Given the description of an element on the screen output the (x, y) to click on. 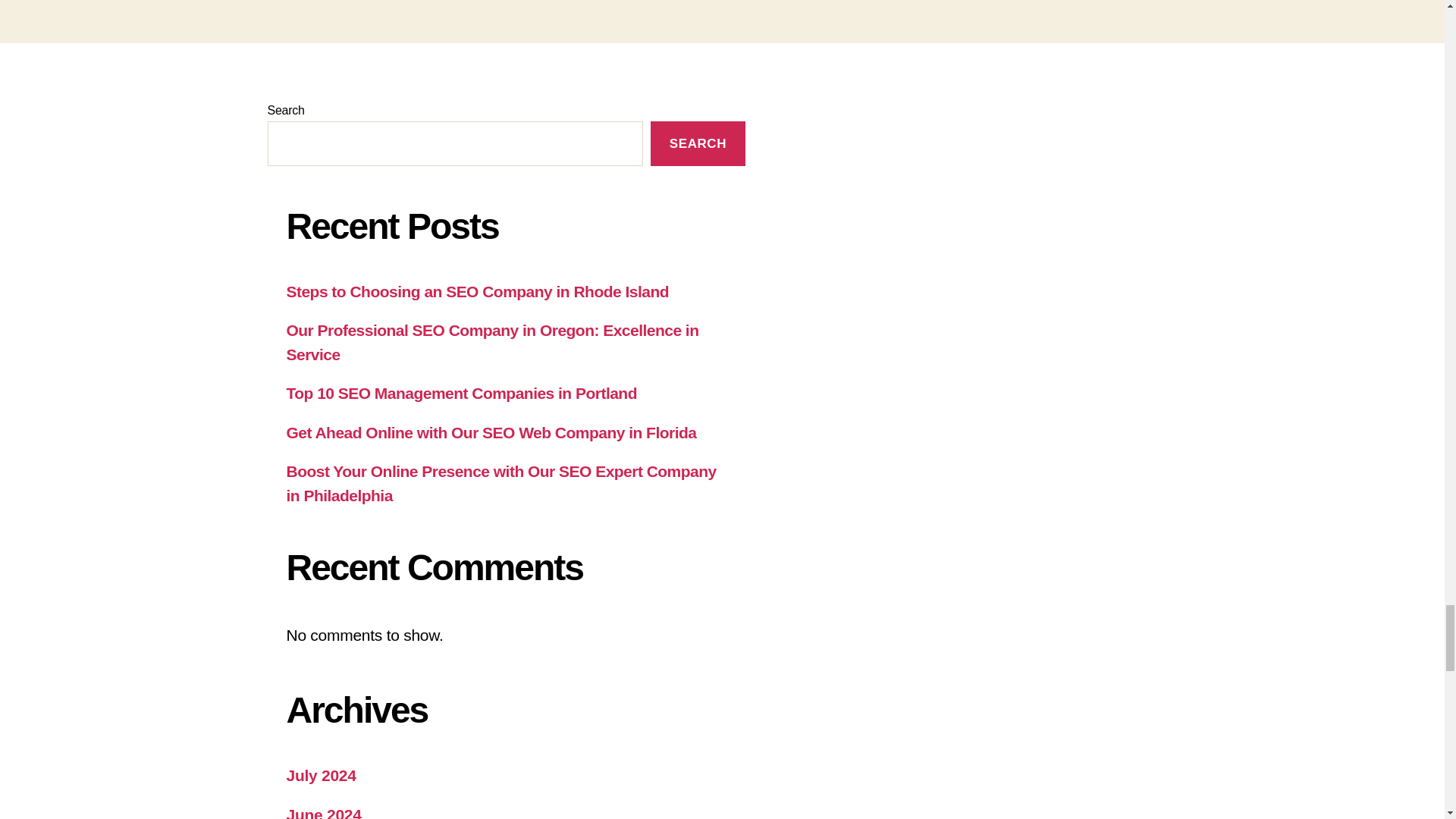
Top 10 SEO Management Companies in Portland (461, 393)
SEARCH (697, 143)
June 2024 (323, 812)
Get Ahead Online with Our SEO Web Company in Florida (491, 432)
July 2024 (321, 774)
Steps to Choosing an SEO Company in Rhode Island (477, 291)
